Given the description of an element on the screen output the (x, y) to click on. 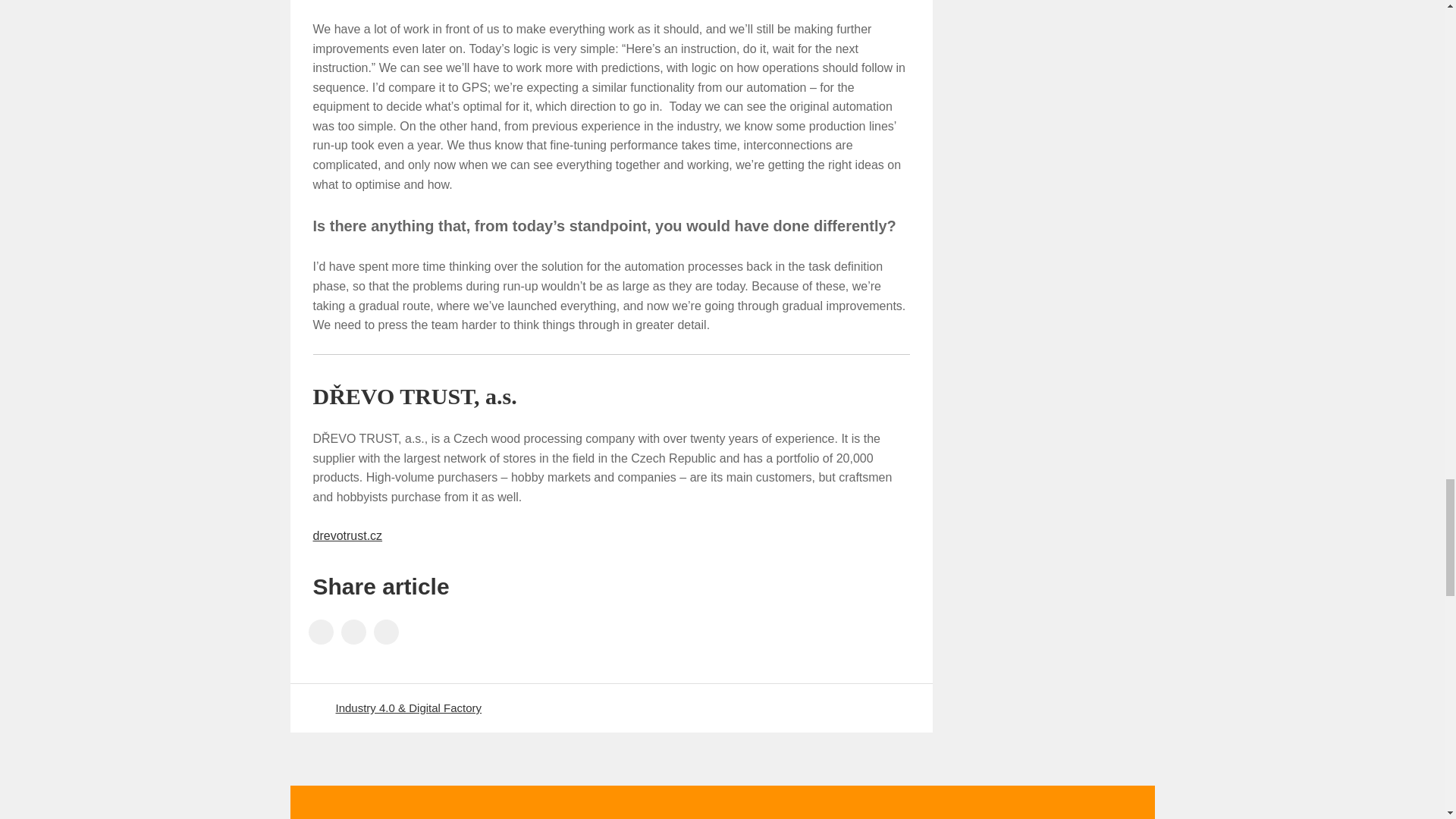
drevotrust.cz (347, 535)
